Given the description of an element on the screen output the (x, y) to click on. 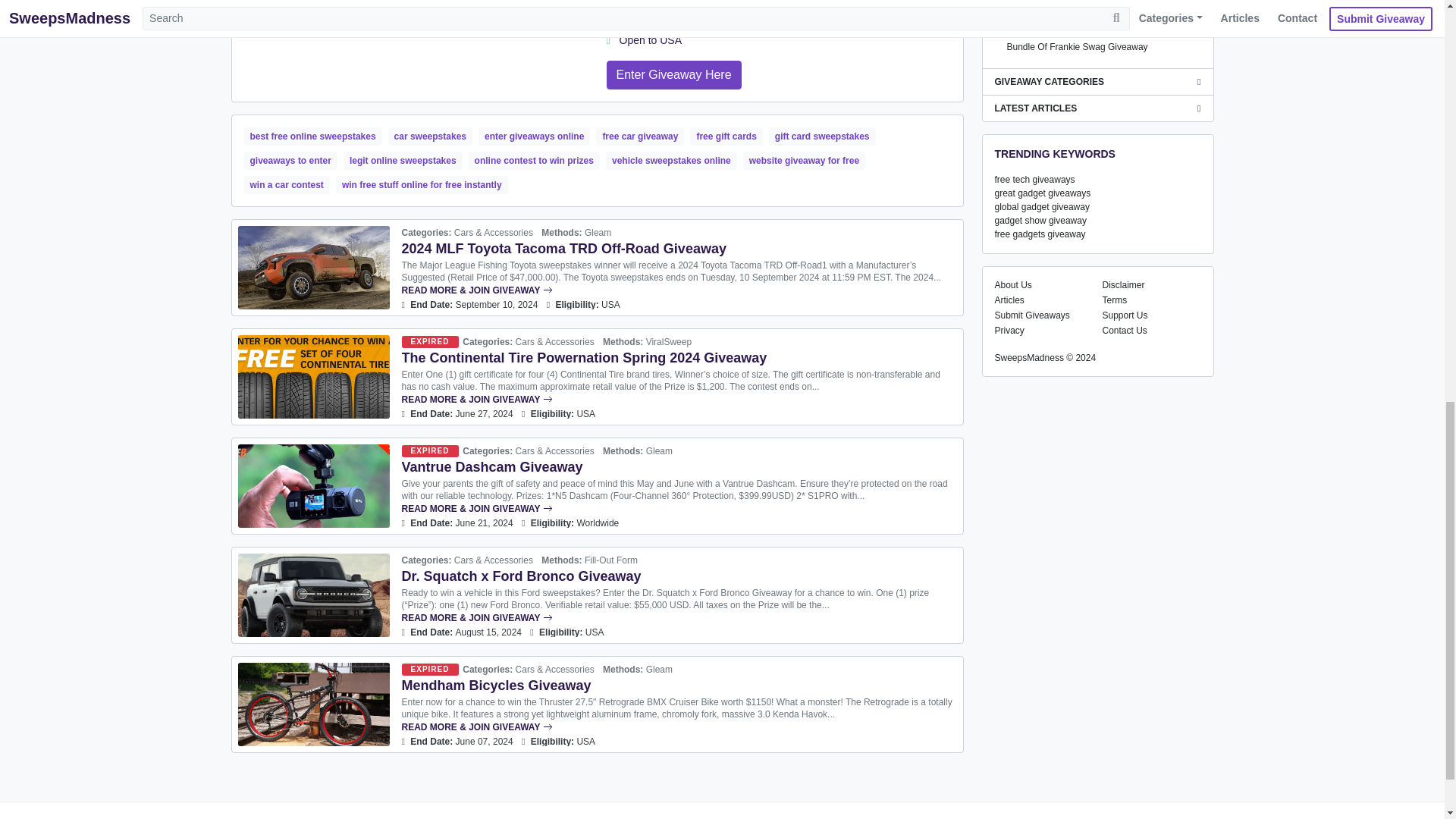
car sweepstakes (429, 136)
free car giveaway (639, 136)
giveaways to enter (290, 160)
free gift cards (725, 136)
2024 MLF Toyota Tacoma TRD Off-Road Giveaway (678, 290)
2024 MLF Toyota Tacoma TRD Off-Road Giveaway (563, 248)
The Continental Tire Powernation Spring 2024 Giveaway (314, 376)
best free online sweepstakes (312, 136)
Hy-Vee Corvette Giveaway (674, 74)
enter giveaways online (534, 136)
Enter Giveaway Here (674, 74)
The Continental Tire Powernation Spring 2024 Giveaway (584, 357)
2024 MLF Toyota Tacoma TRD Off-Road Giveaway (314, 267)
gift card sweepstakes (822, 136)
